Given the description of an element on the screen output the (x, y) to click on. 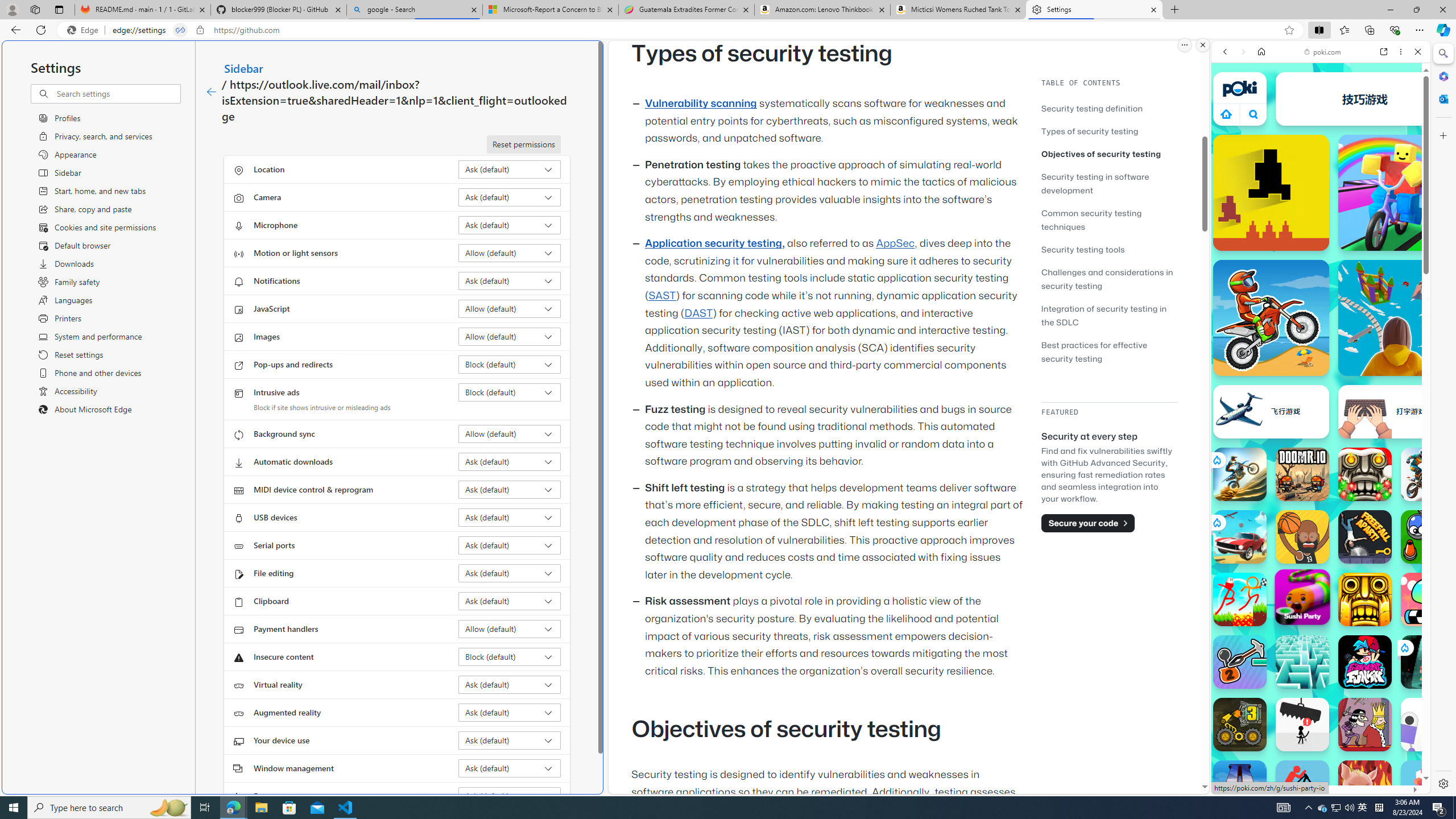
Favorites (1344, 29)
Friday Night Funkin' Friday Night Funkin' (1364, 661)
Quivershot (1427, 661)
Types of security testing (1089, 130)
Temple Run 2: Frozen Festival Temple Run 2: Frozen Festival (1364, 474)
Fonts Ask (default) (509, 796)
Sports Games (1320, 378)
Doomr.io (1302, 474)
Stickman Hook (1302, 98)
Tabs in split screen (180, 29)
More options. (1183, 45)
SimplyUp.io (1396, 317)
Stickman Run (1427, 98)
